Given the description of an element on the screen output the (x, y) to click on. 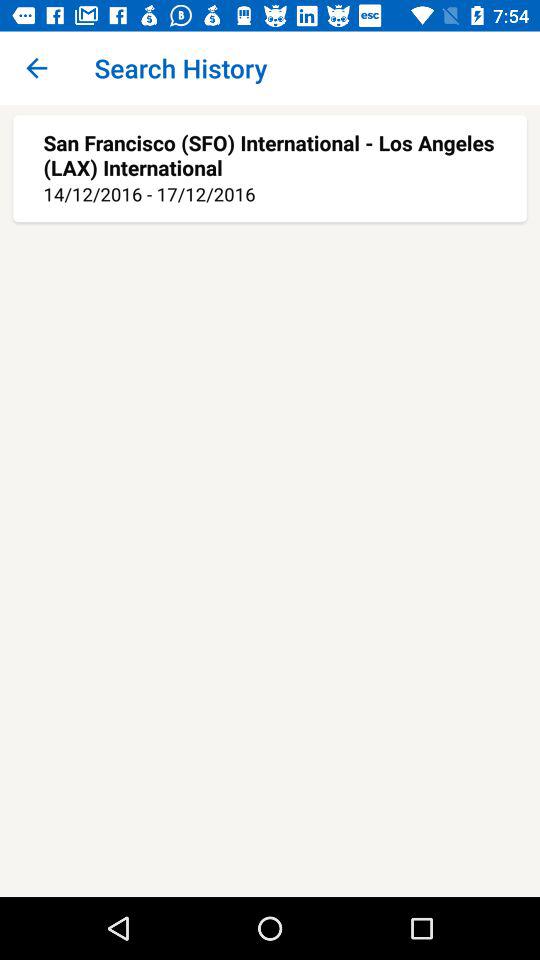
tap the icon below the san francisco sfo (269, 193)
